Given the description of an element on the screen output the (x, y) to click on. 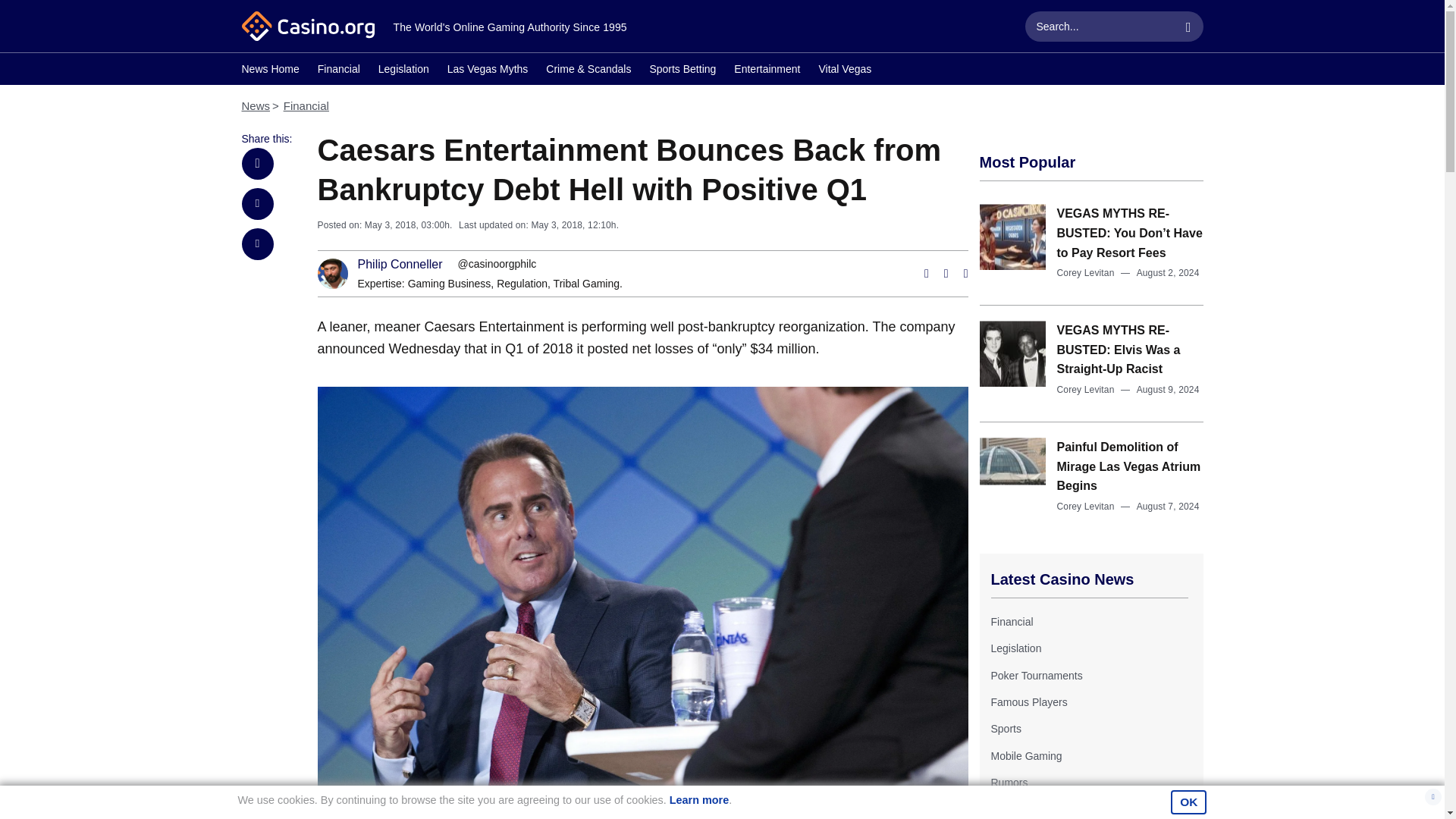
Legislation (1015, 648)
Legislation (403, 70)
Philip Conneller (400, 264)
Financial (1011, 621)
Rumors (1008, 782)
Corey Levitan (1086, 506)
Corey Levitan (1086, 389)
Painful Demolition of Mirage Las Vegas Atrium Begins (1129, 466)
Sports (1005, 728)
Financial (306, 105)
